Given the description of an element on the screen output the (x, y) to click on. 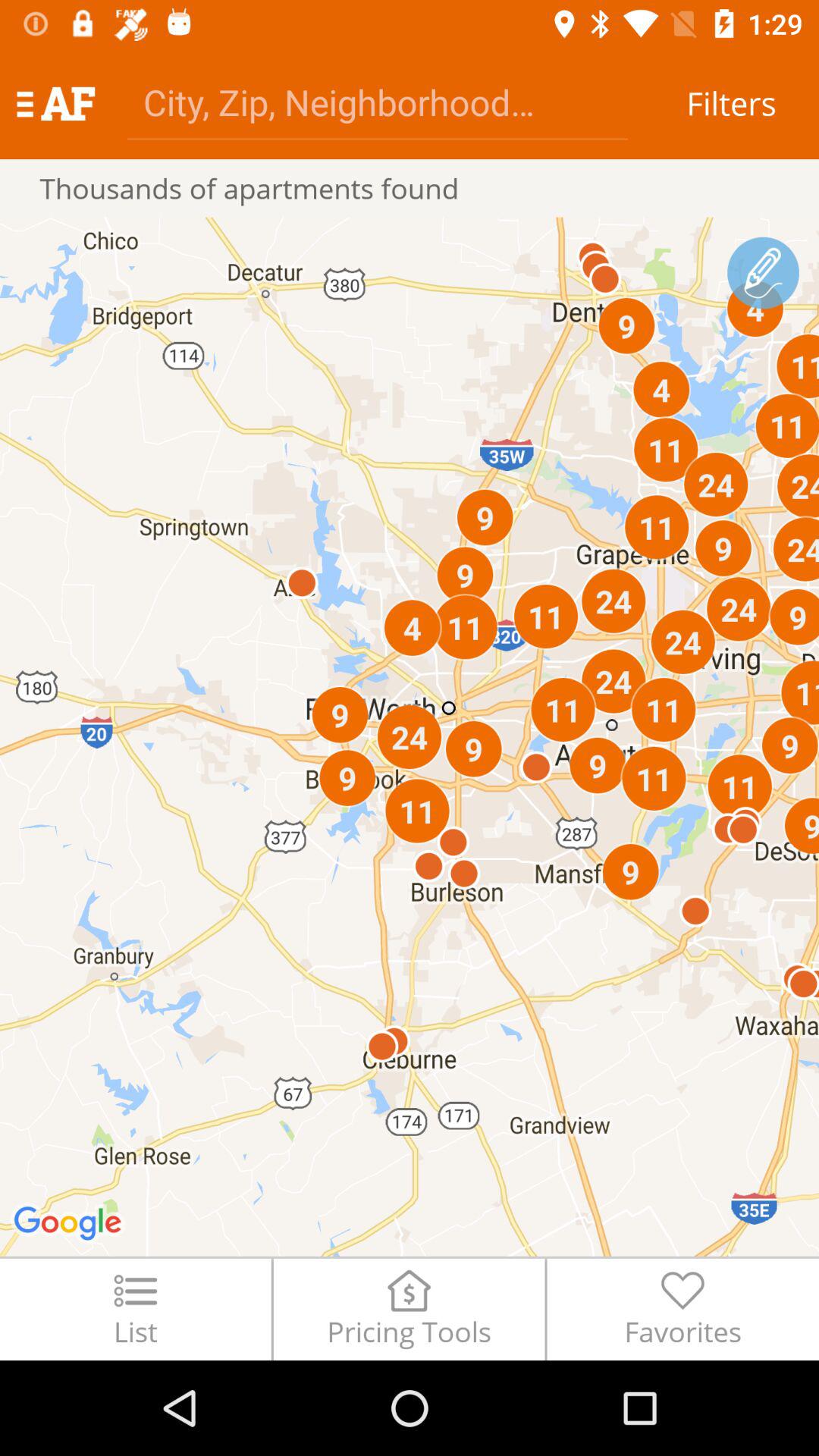
tap the item to the right of pricing tools icon (683, 1309)
